Given the description of an element on the screen output the (x, y) to click on. 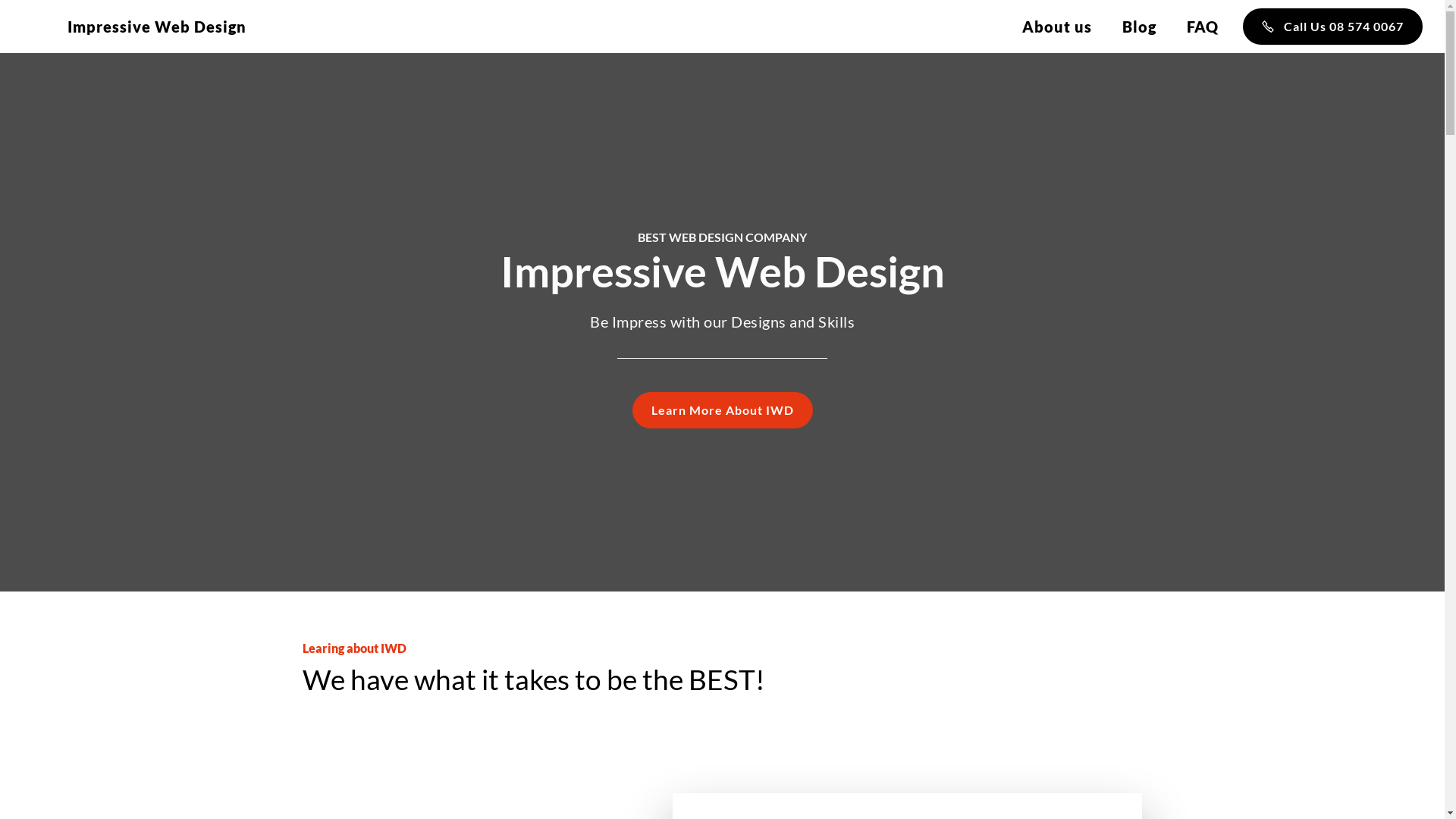
FAQ Element type: text (1202, 26)
Learn More About IWD Element type: text (722, 410)
Impressive Web Design Element type: text (156, 26)
Blog Element type: text (1139, 26)
Call Us 08 574 0067 Element type: text (1332, 26)
About us Element type: text (1057, 26)
